Given the description of an element on the screen output the (x, y) to click on. 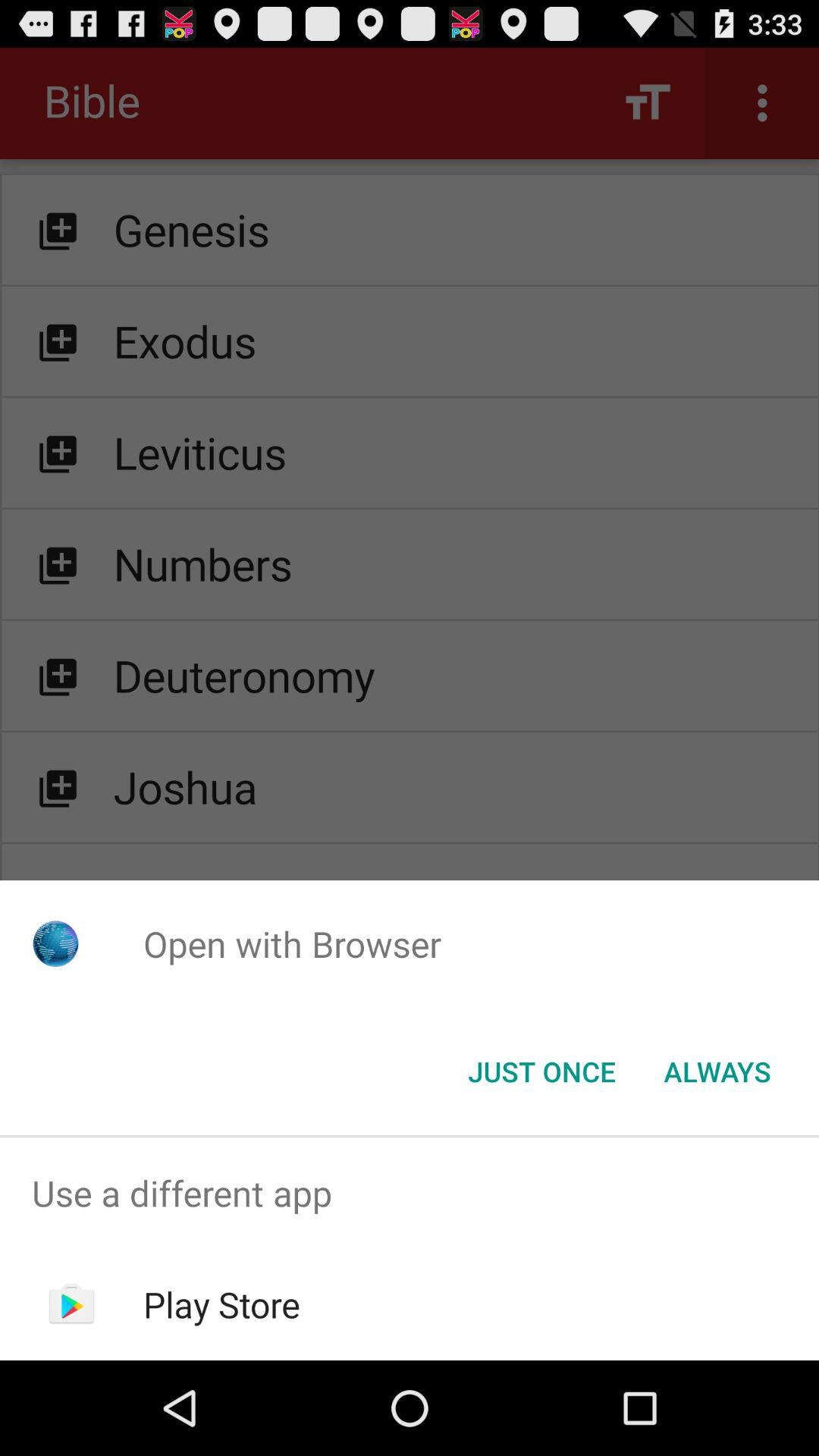
choose the play store item (221, 1304)
